Given the description of an element on the screen output the (x, y) to click on. 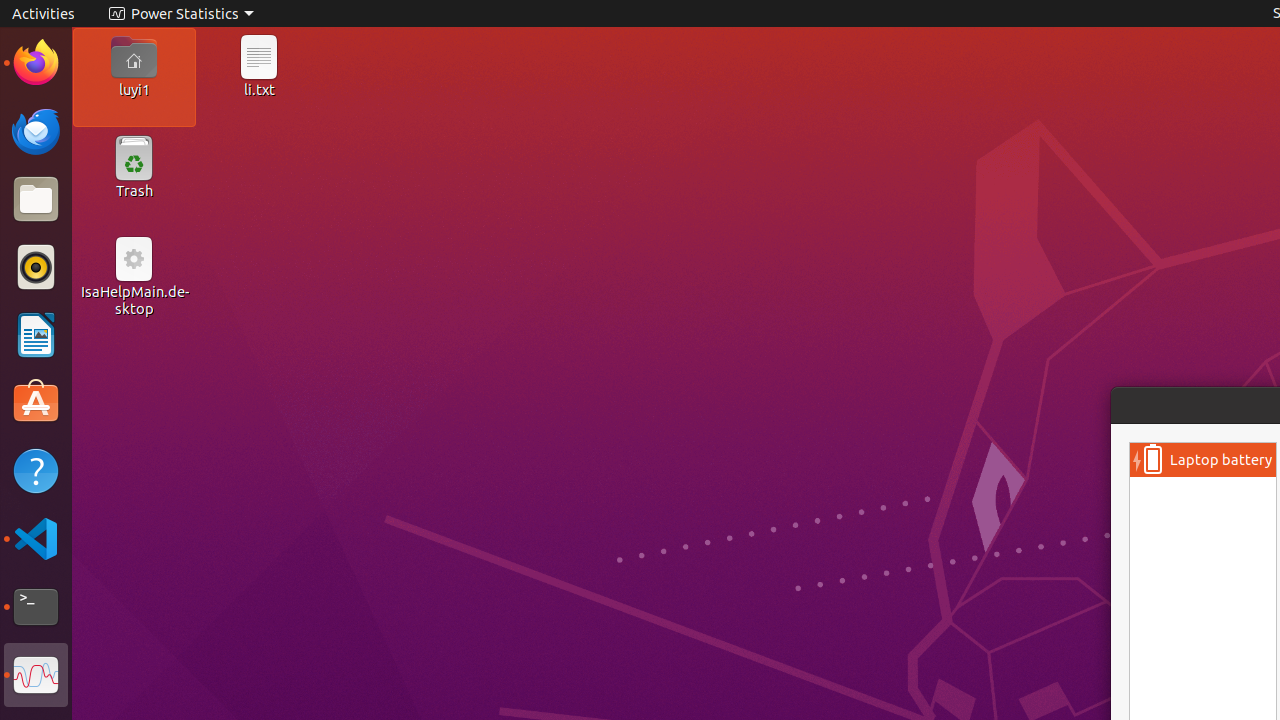
Firefox Web Browser Element type: push-button (36, 63)
